Given the description of an element on the screen output the (x, y) to click on. 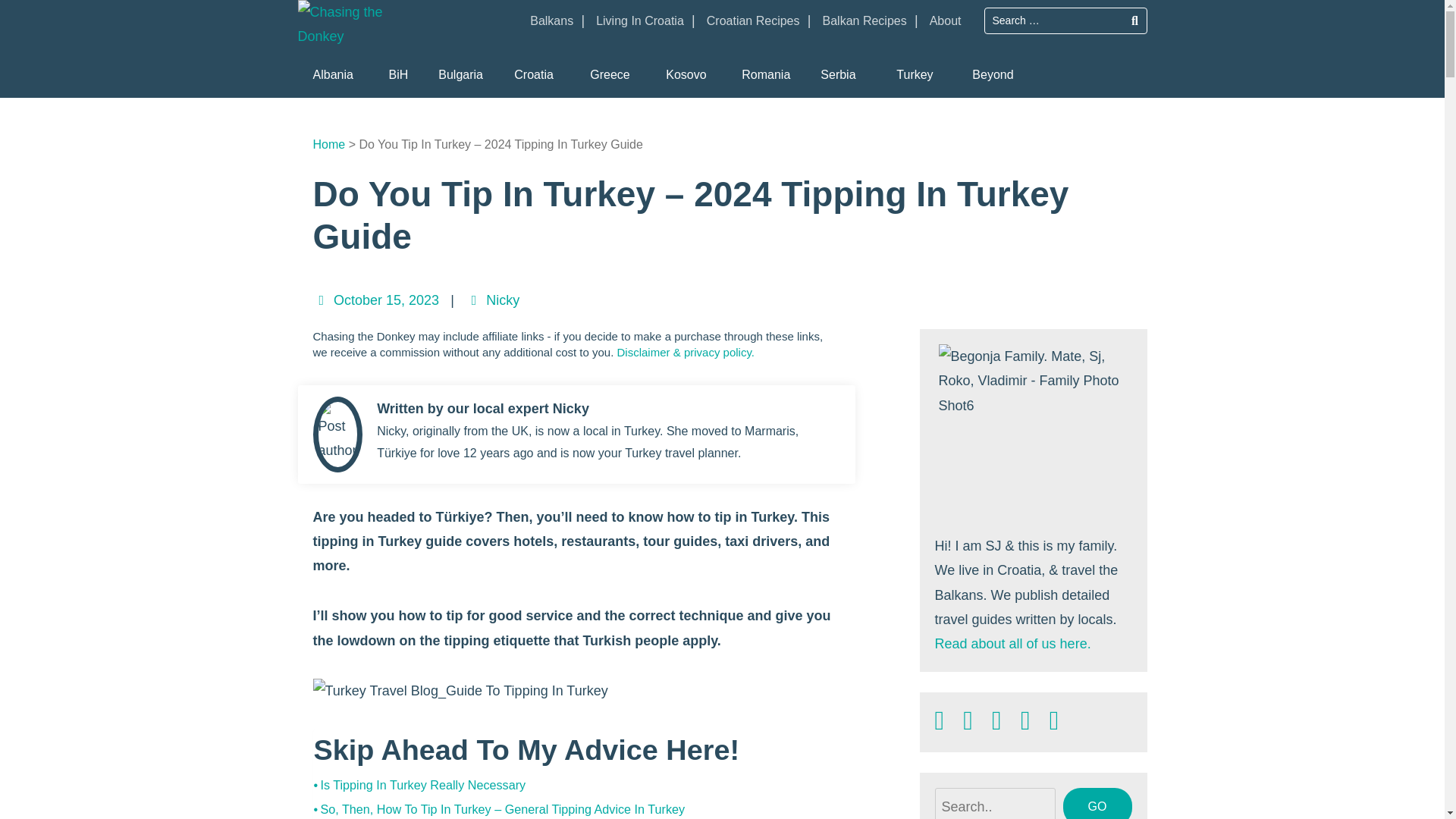
Romania Travel Guides (765, 75)
Croatia (534, 75)
Croatian Recipes (752, 26)
Albania Travel Guides (332, 75)
Kosovo Travel Guides (685, 75)
Bulgaria Travel Guides (460, 75)
Other Travel Guides (991, 75)
Romania (765, 75)
Serbia Travel Guides (837, 75)
Beyond (991, 75)
